Given the description of an element on the screen output the (x, y) to click on. 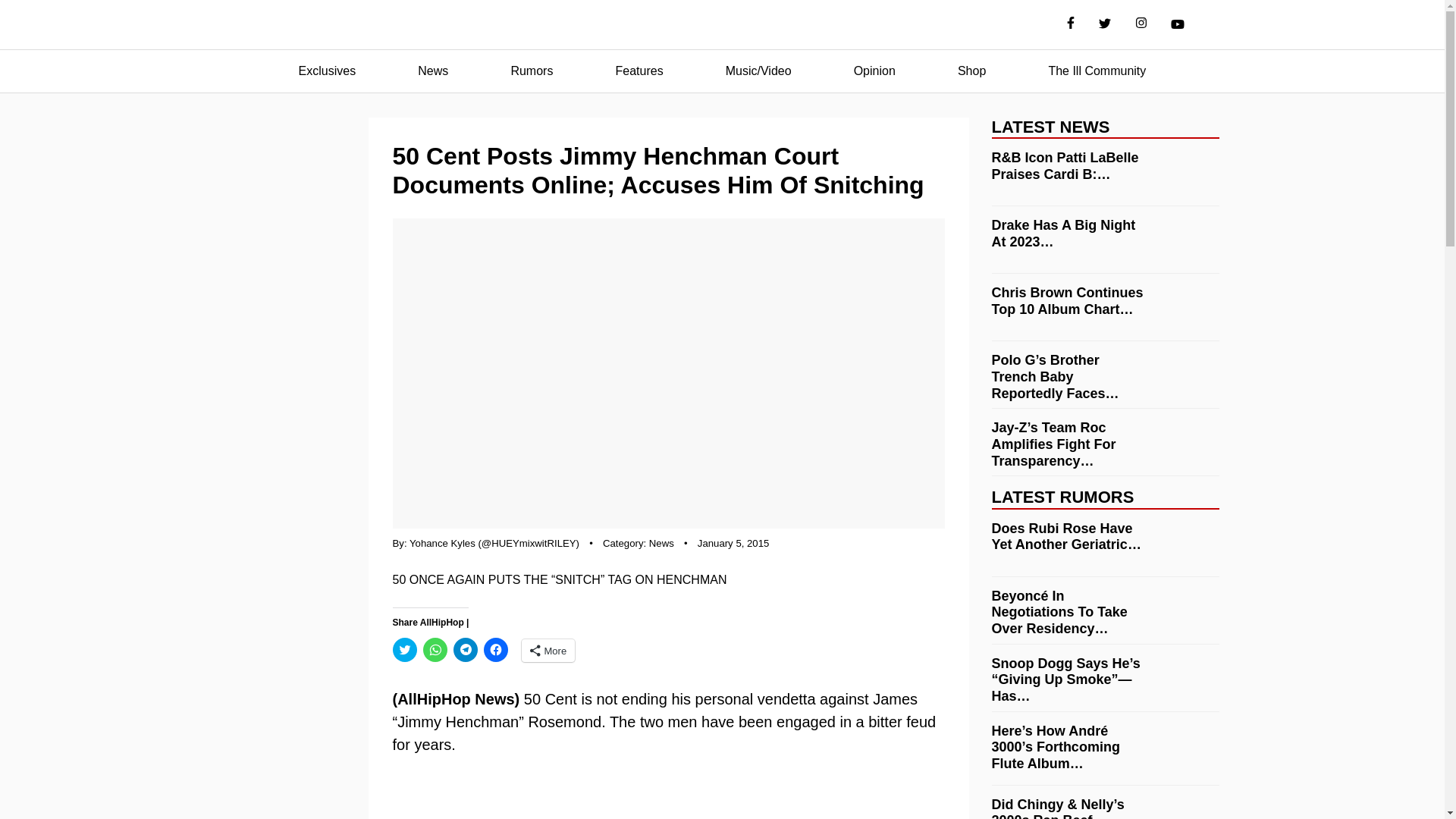
Click to share on Twitter (404, 649)
AllHipHop (722, 25)
News (433, 70)
Exclusives (327, 70)
Rumors (530, 70)
Opinion (874, 70)
News (661, 542)
Features (638, 70)
Click to share on Facebook (495, 649)
The Ill Community (1096, 70)
